Given the description of an element on the screen output the (x, y) to click on. 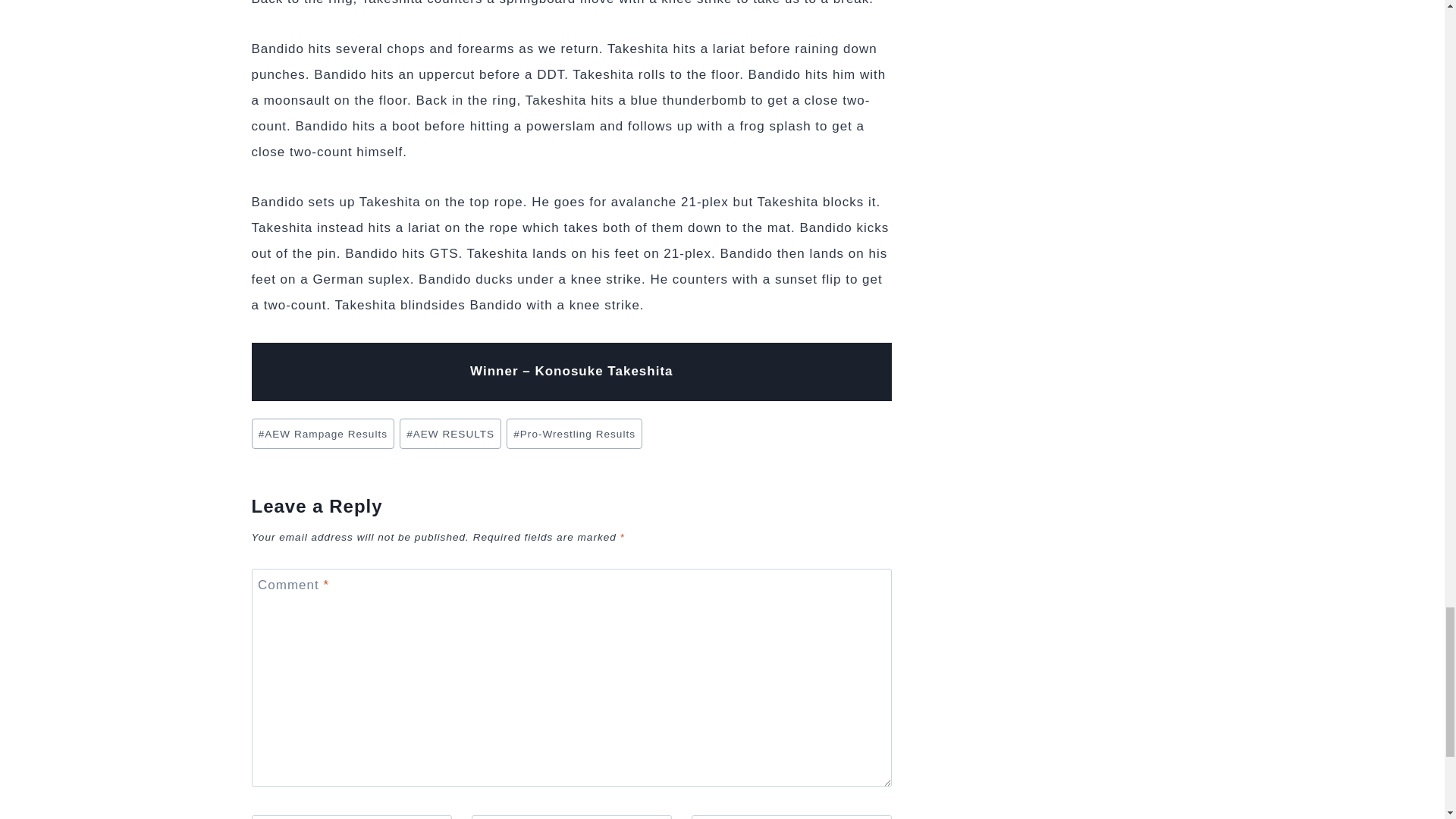
AEW RESULTS (449, 433)
AEW Rampage Results (322, 433)
Pro-Wrestling Results (574, 433)
